Given the description of an element on the screen output the (x, y) to click on. 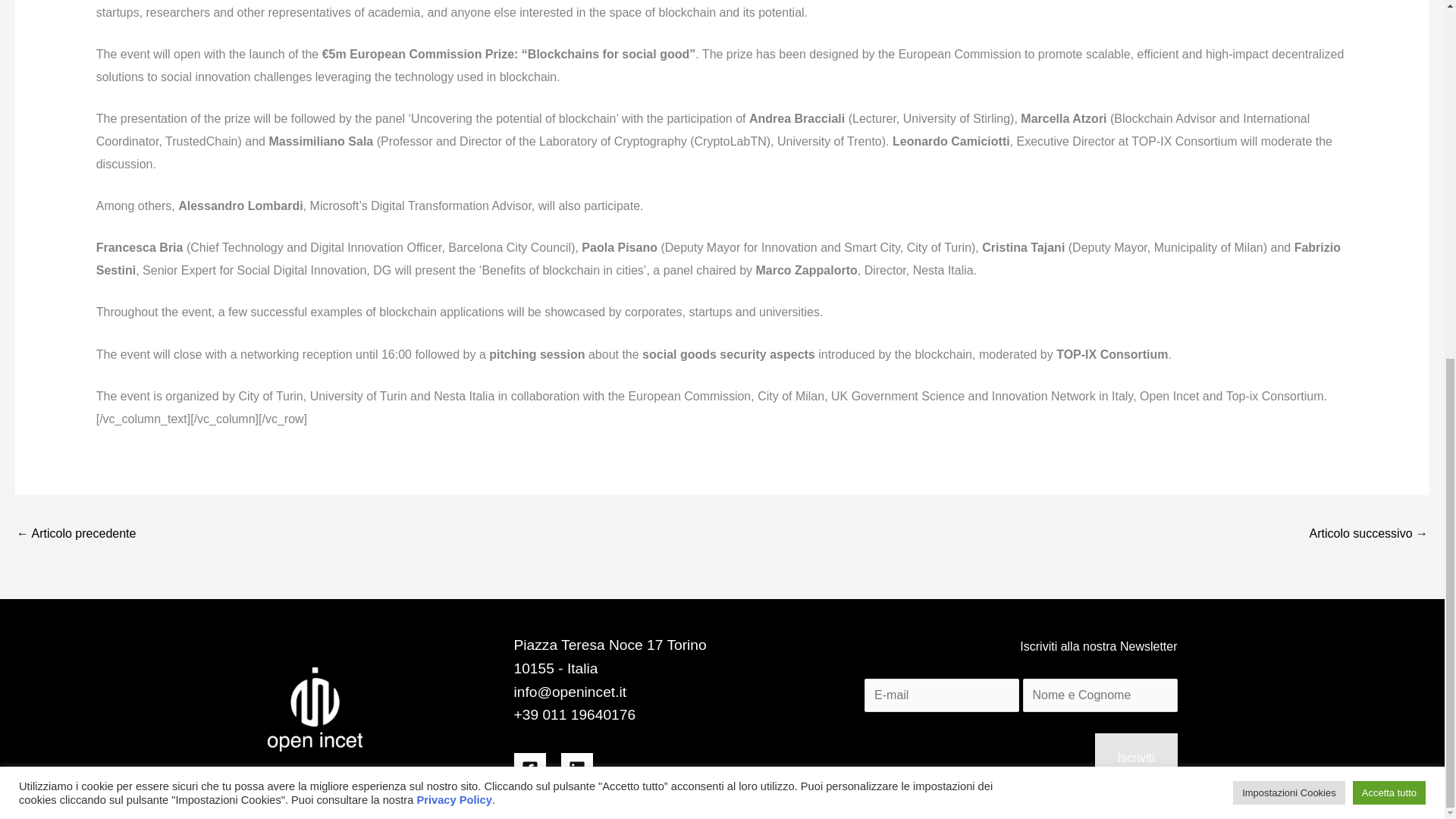
Lean INnovation Express (75, 534)
Privacy Policy (454, 166)
Iscriviti (1135, 757)
